Given the description of an element on the screen output the (x, y) to click on. 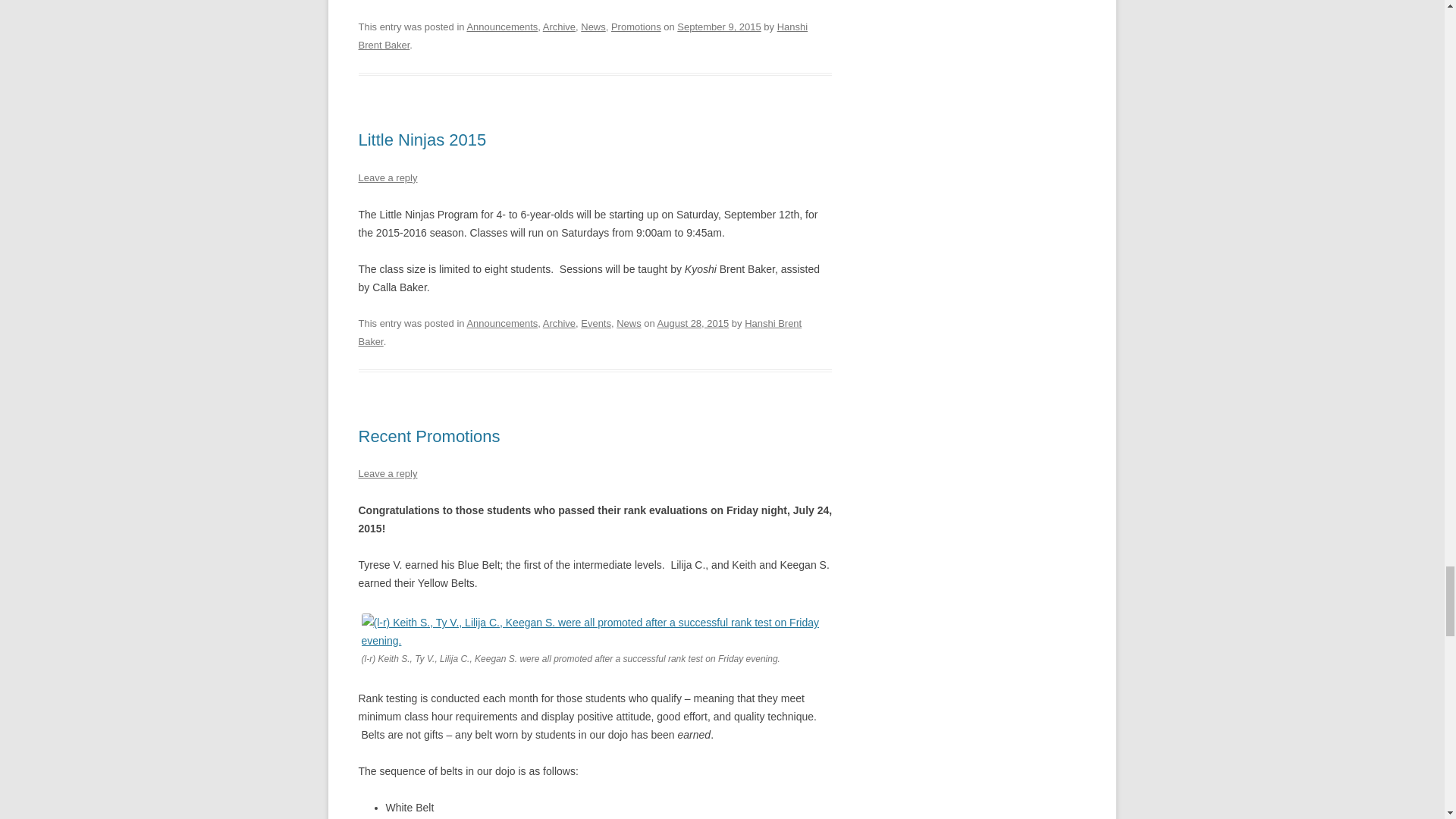
5:23 am (718, 26)
View all posts by Hanshi Brent Baker (580, 332)
5:05 pm (693, 323)
View all posts by Hanshi Brent Baker (583, 35)
